Given the description of an element on the screen output the (x, y) to click on. 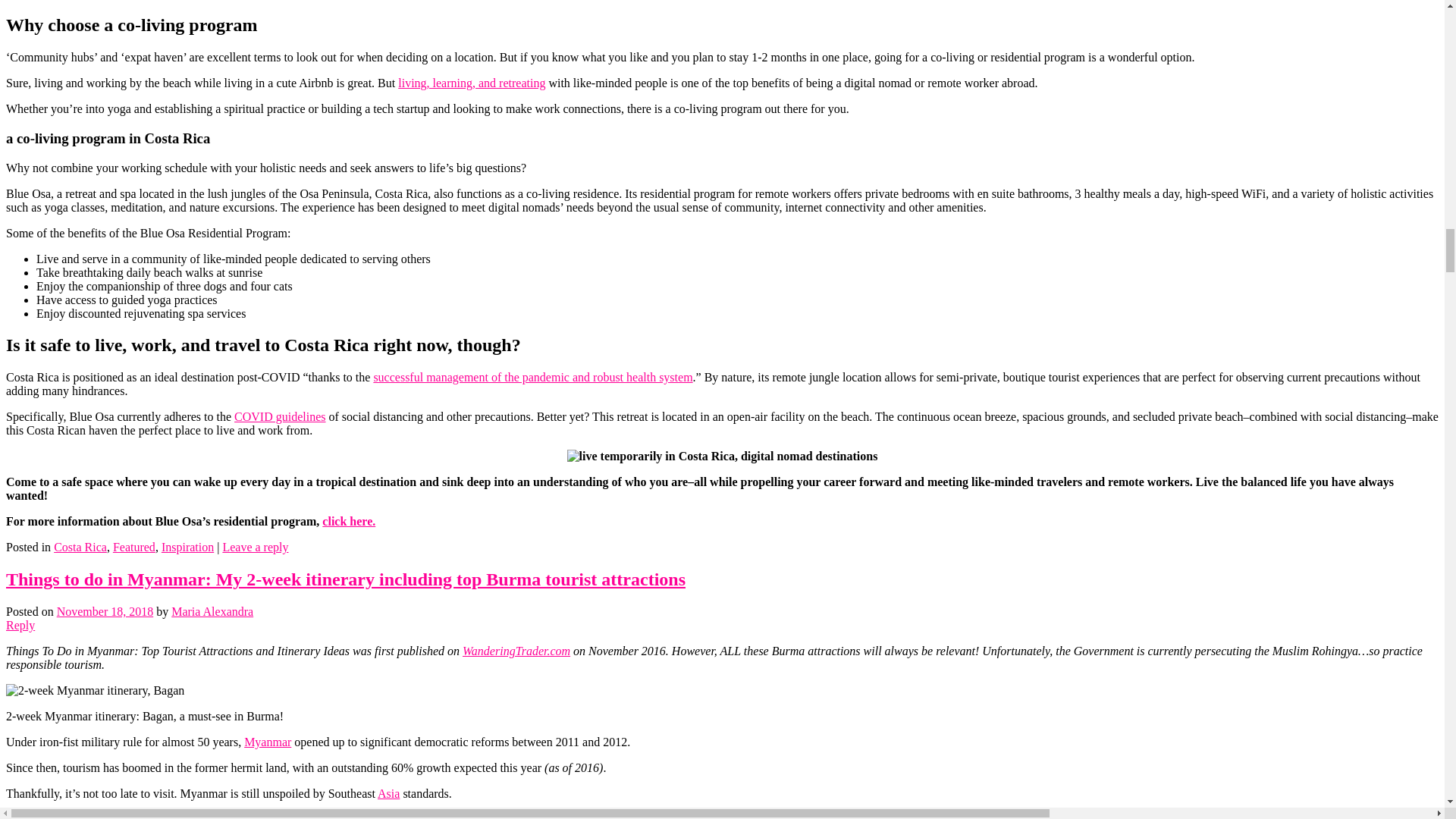
View all posts by Maria Alexandra (212, 611)
11:30 PM (105, 611)
